Given the description of an element on the screen output the (x, y) to click on. 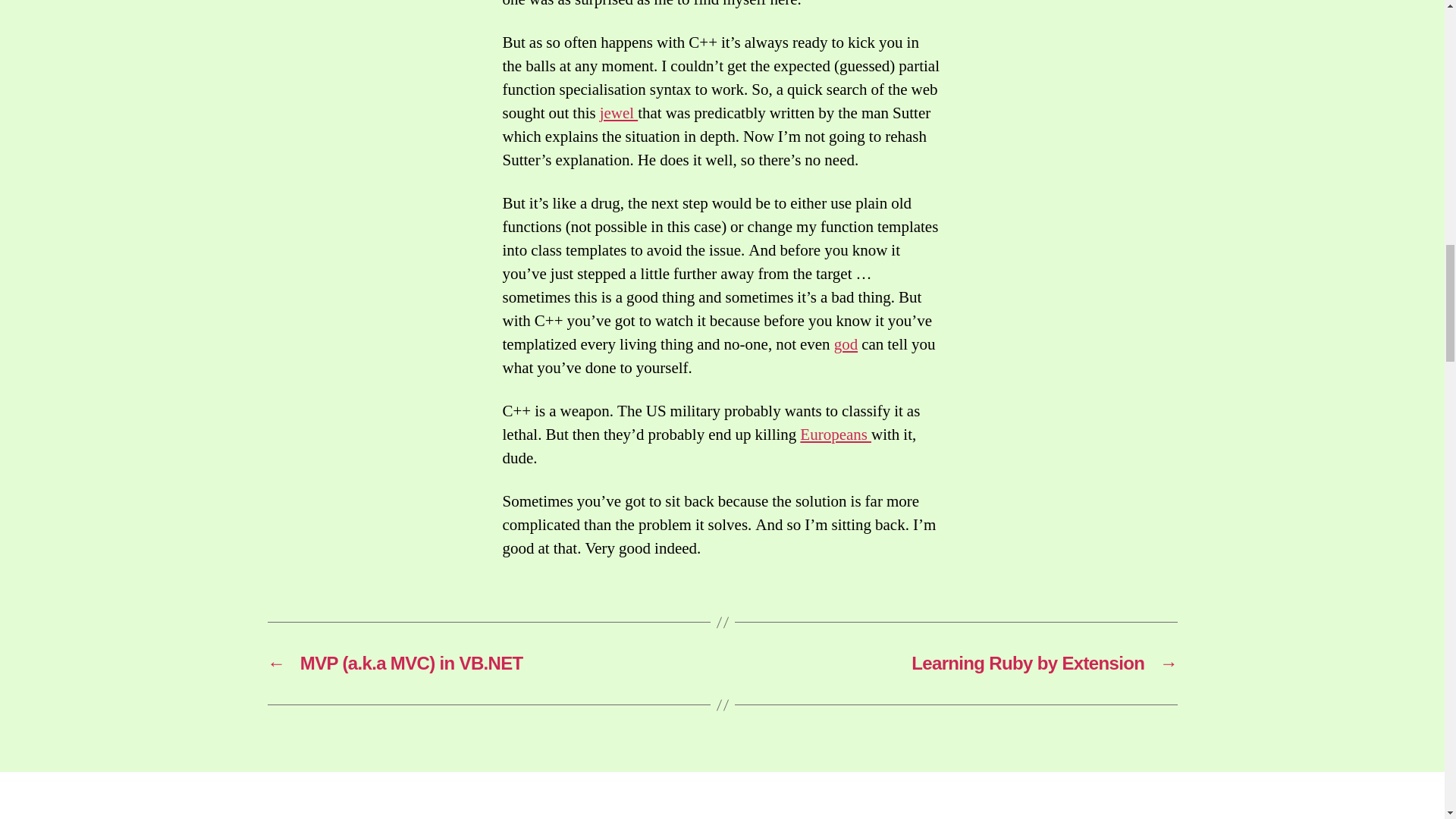
jewel (618, 113)
god (846, 344)
Europeans (834, 435)
